Given the description of an element on the screen output the (x, y) to click on. 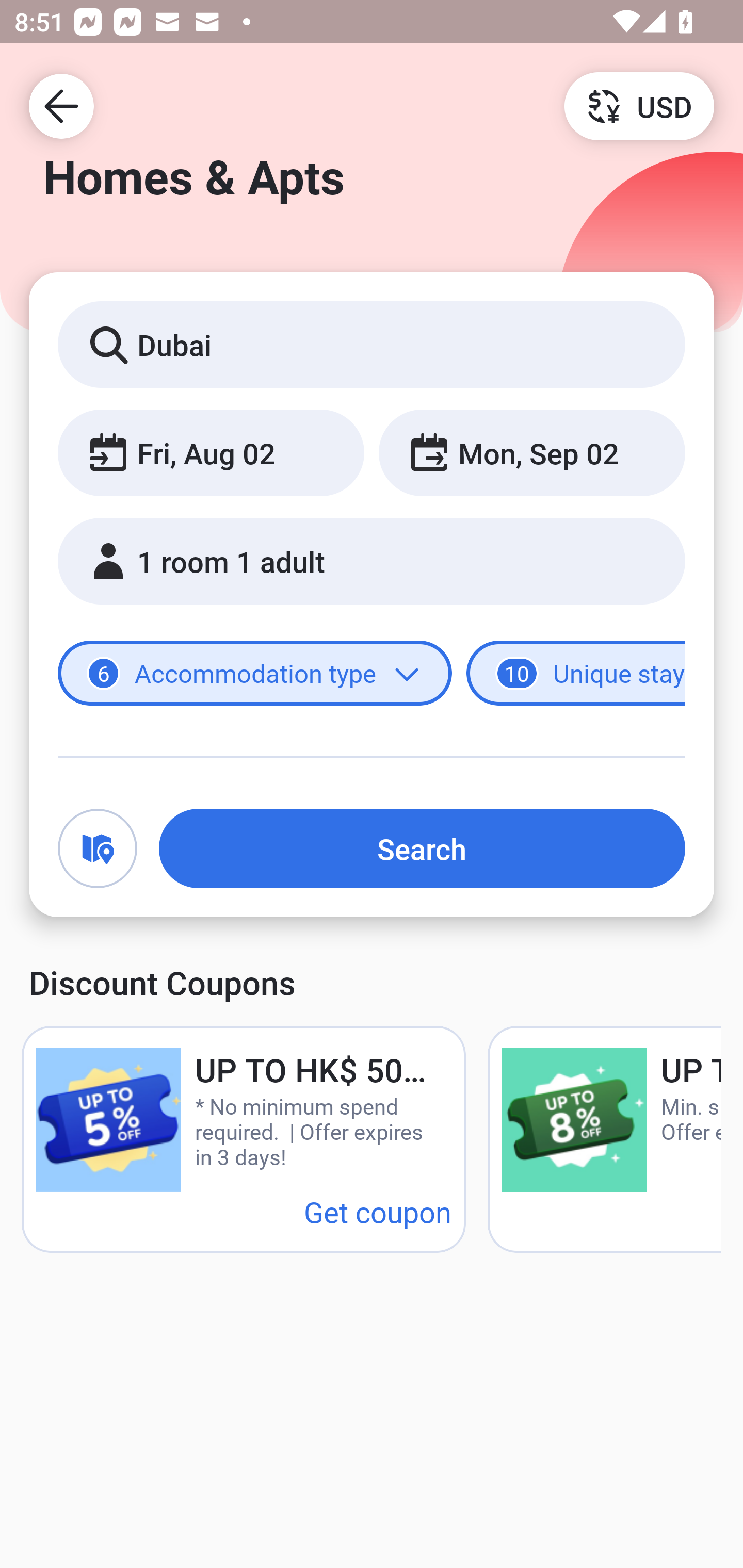
USD (639, 105)
Dubai (371, 344)
Fri, Aug 02 (210, 452)
Mon, Sep 02 (531, 452)
1 room 1 adult (371, 561)
6 Accommodation type (254, 673)
10 Unique stays (575, 673)
Search (422, 848)
Get coupon (377, 1211)
